Given the description of an element on the screen output the (x, y) to click on. 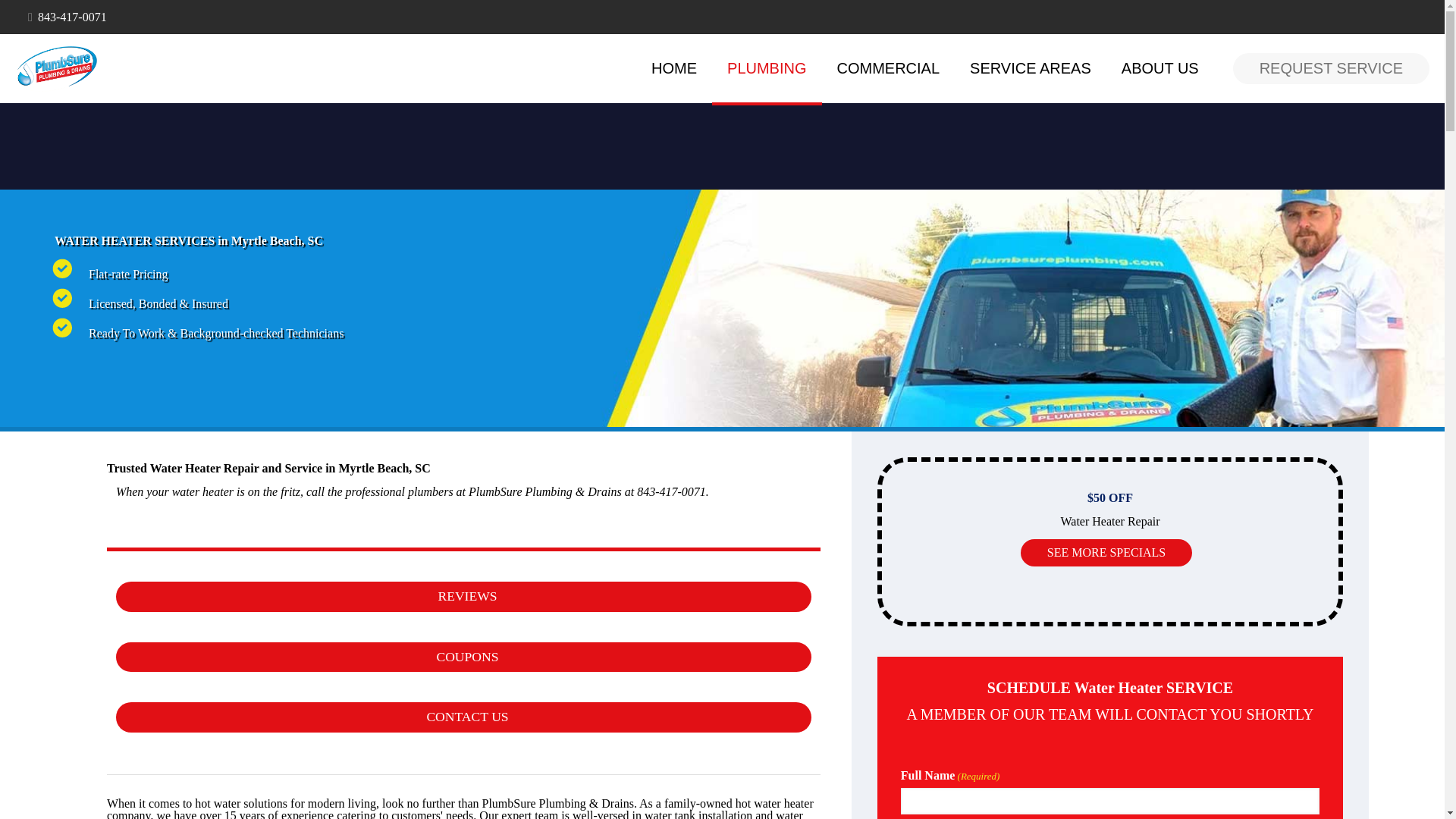
ABOUT US (1160, 68)
SEE MORE SPECIALS (1106, 552)
PLUMBING (766, 68)
REQUEST SERVICE (1331, 68)
COUPONS (463, 656)
HOME (673, 68)
SERVICE AREAS (1030, 68)
CONTACT US (463, 716)
843-417-0071 (71, 16)
COMMERCIAL (888, 68)
REVIEWS (463, 596)
